Given the description of an element on the screen output the (x, y) to click on. 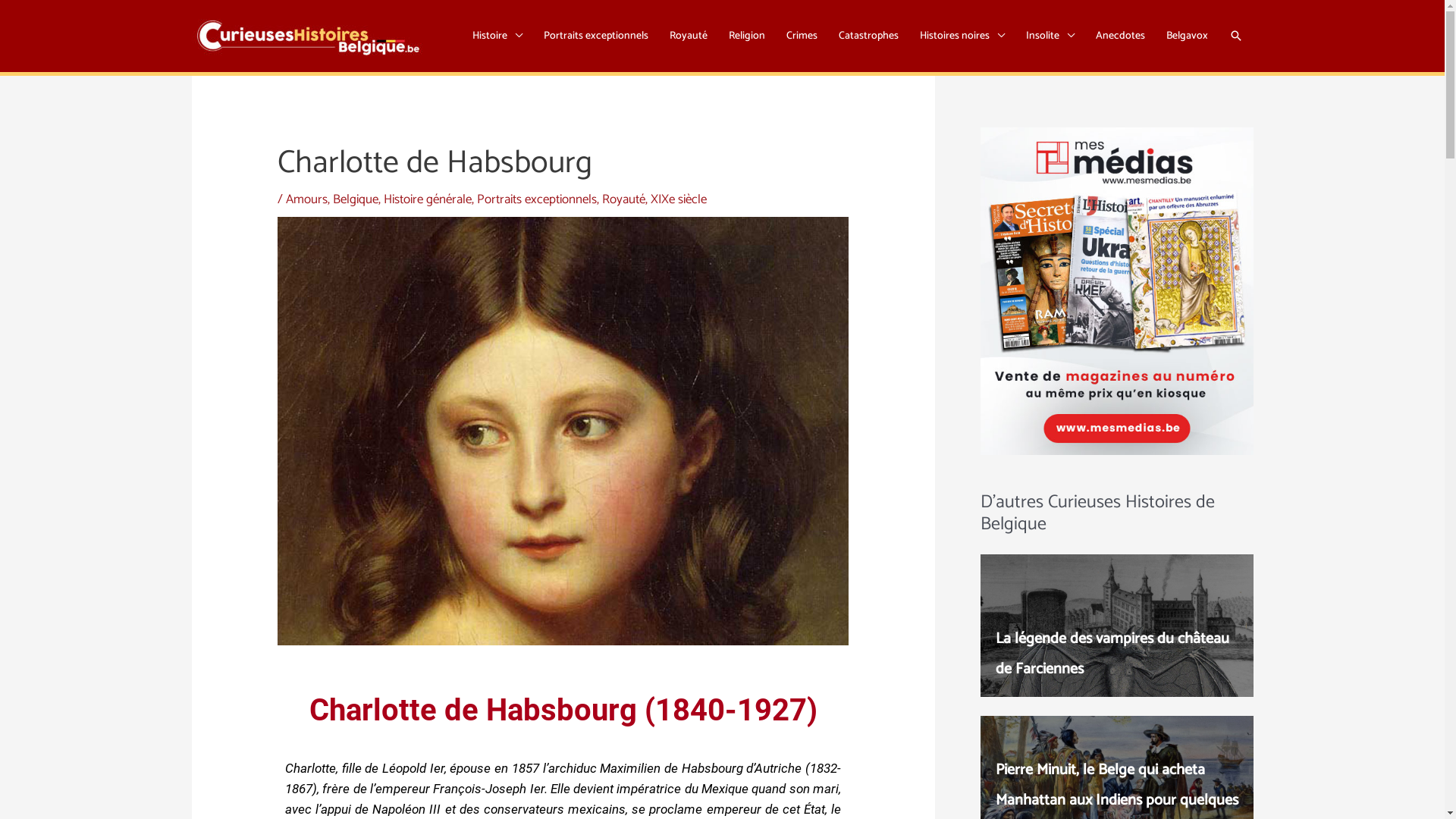
Anecdotes Element type: text (1119, 36)
Histoire Element type: text (496, 36)
Catastrophes Element type: text (868, 36)
Belgavox Element type: text (1186, 36)
Insolite Element type: text (1049, 36)
Religion Element type: text (746, 36)
Portraits exceptionnels Element type: text (536, 199)
Portraits exceptionnels Element type: text (595, 36)
Belgique Element type: text (355, 199)
Crimes Element type: text (801, 36)
Amours Element type: text (306, 199)
Histoires noires Element type: text (961, 36)
